Given the description of an element on the screen output the (x, y) to click on. 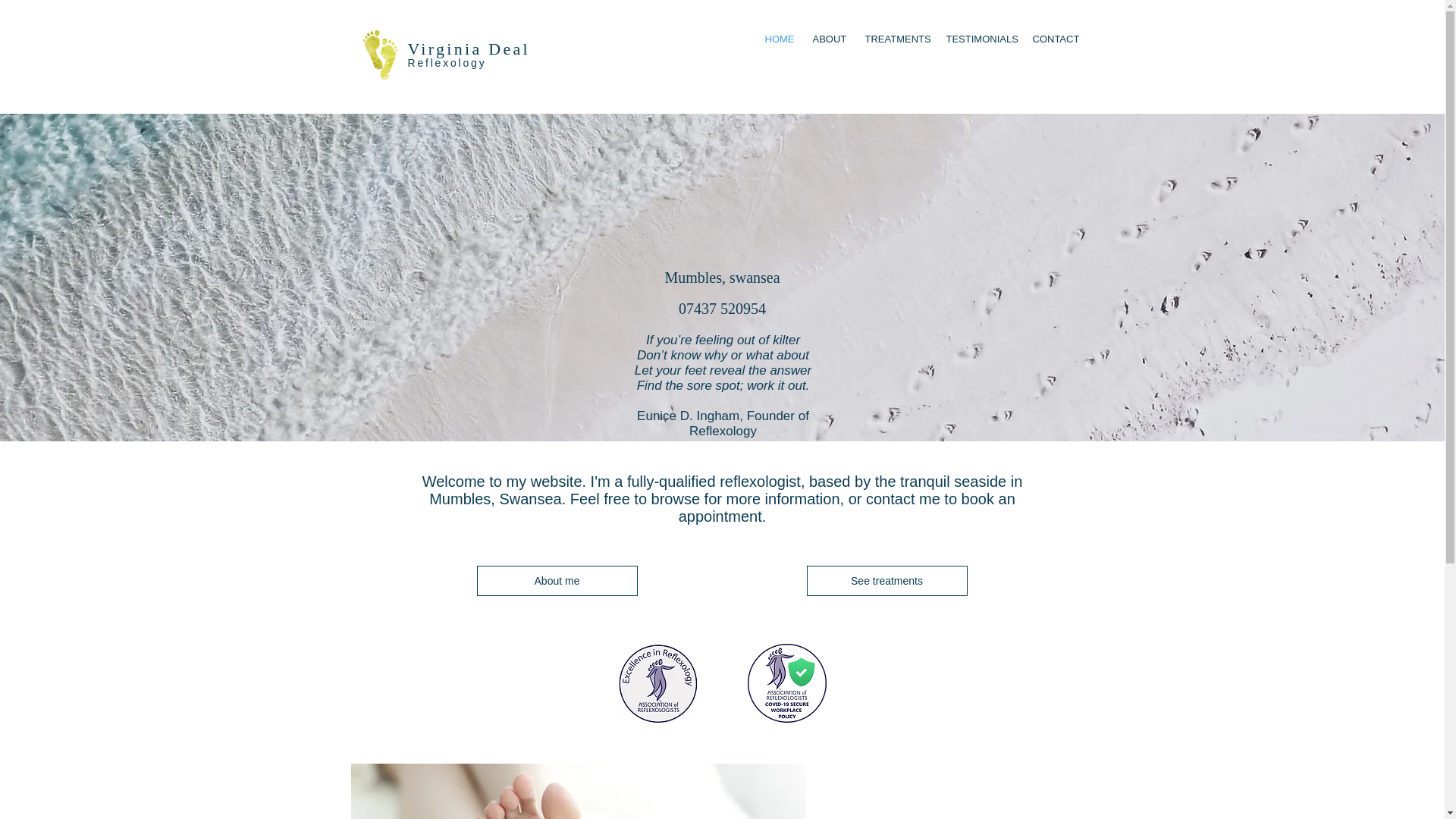
See treatments (887, 580)
About me (556, 580)
Virginia Deal (469, 48)
ABOUT (826, 39)
TREATMENTS (893, 39)
TESTIMONIALS (977, 39)
HOME (778, 39)
CONTACT (1050, 39)
